Given the description of an element on the screen output the (x, y) to click on. 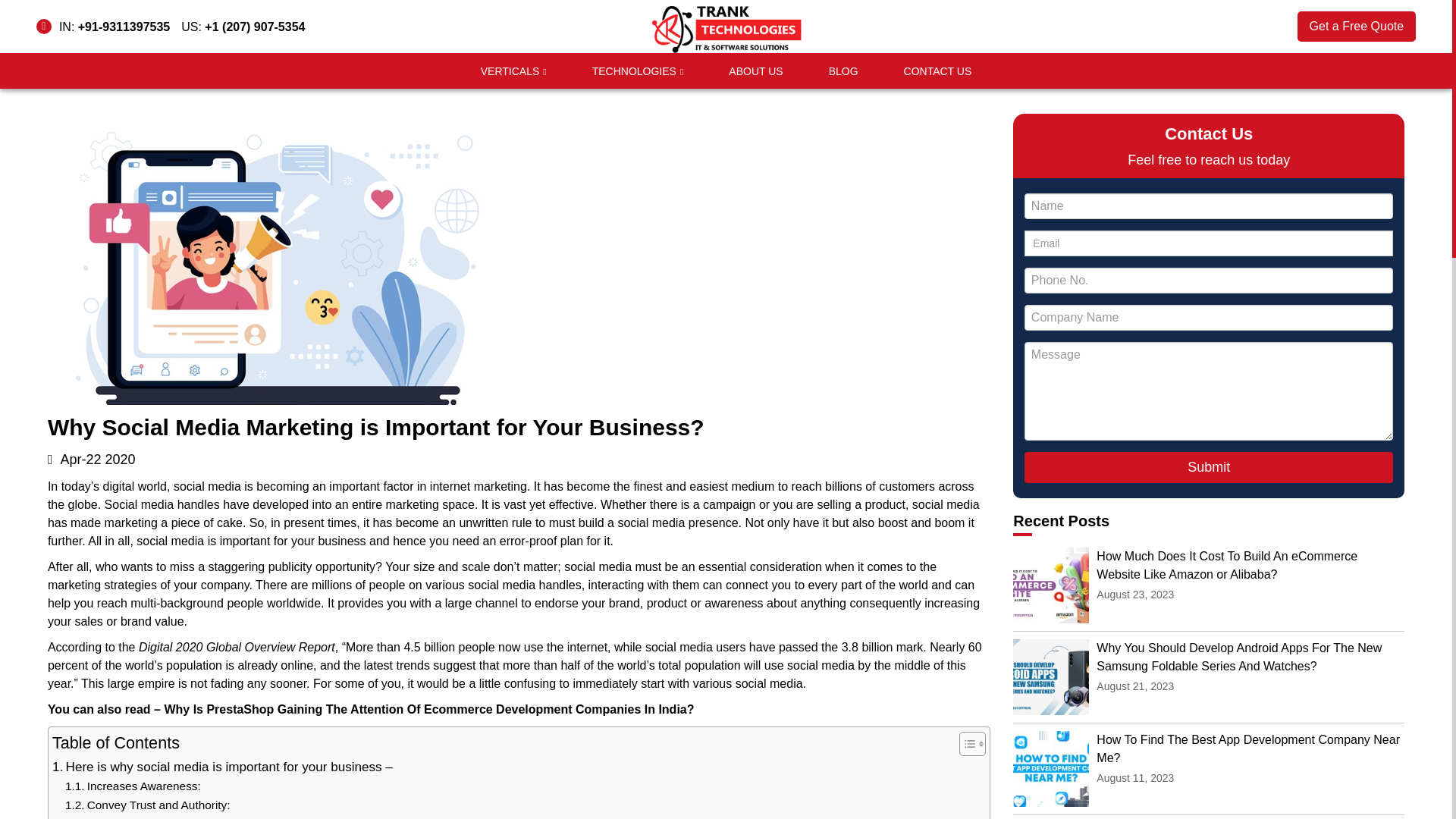
Build some authenticity amongst your target group: (209, 816)
Submit (1209, 467)
Get a Free Quote (1356, 26)
Get a Free Quote (1356, 26)
Increases Awareness: (132, 786)
Convey Trust and Authority: (147, 805)
VERTICALS (510, 70)
TECHNOLOGIES (634, 70)
